Given the description of an element on the screen output the (x, y) to click on. 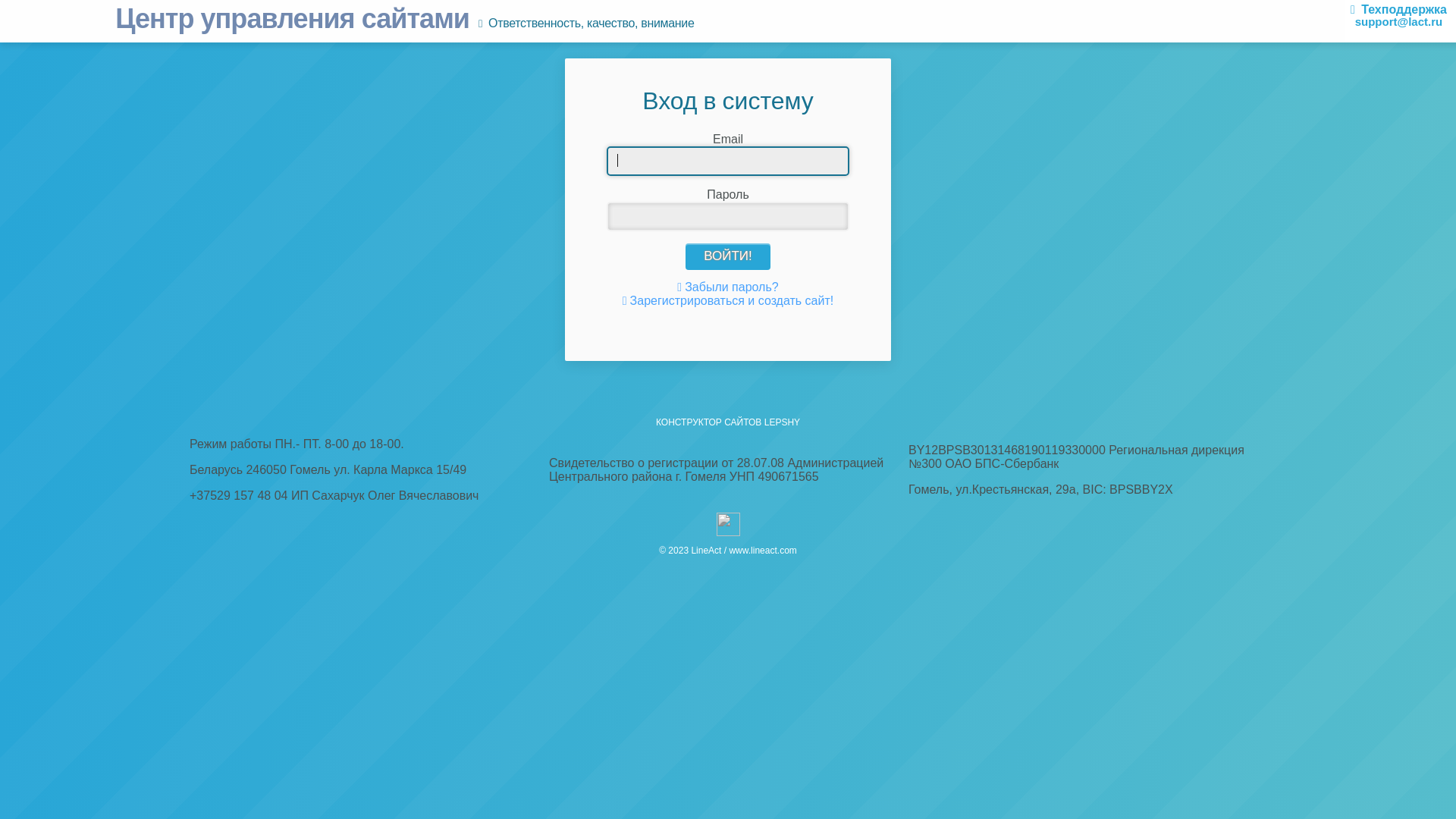
LineAct / www.lineact.com Element type: text (743, 550)
LiveInternet Element type: hover (727, 524)
